Given the description of an element on the screen output the (x, y) to click on. 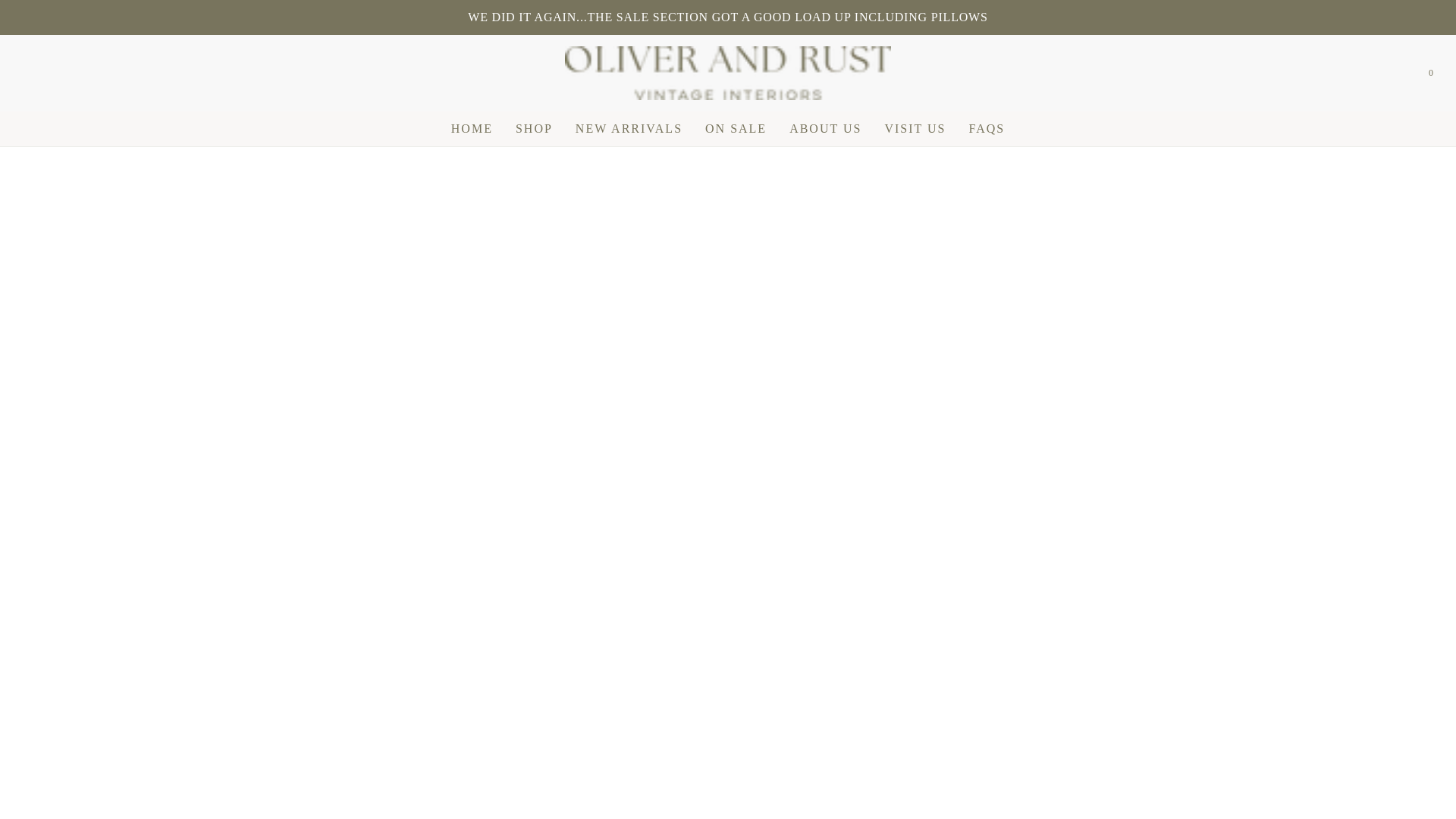
HOME (472, 128)
SHOP (534, 128)
